Given the description of an element on the screen output the (x, y) to click on. 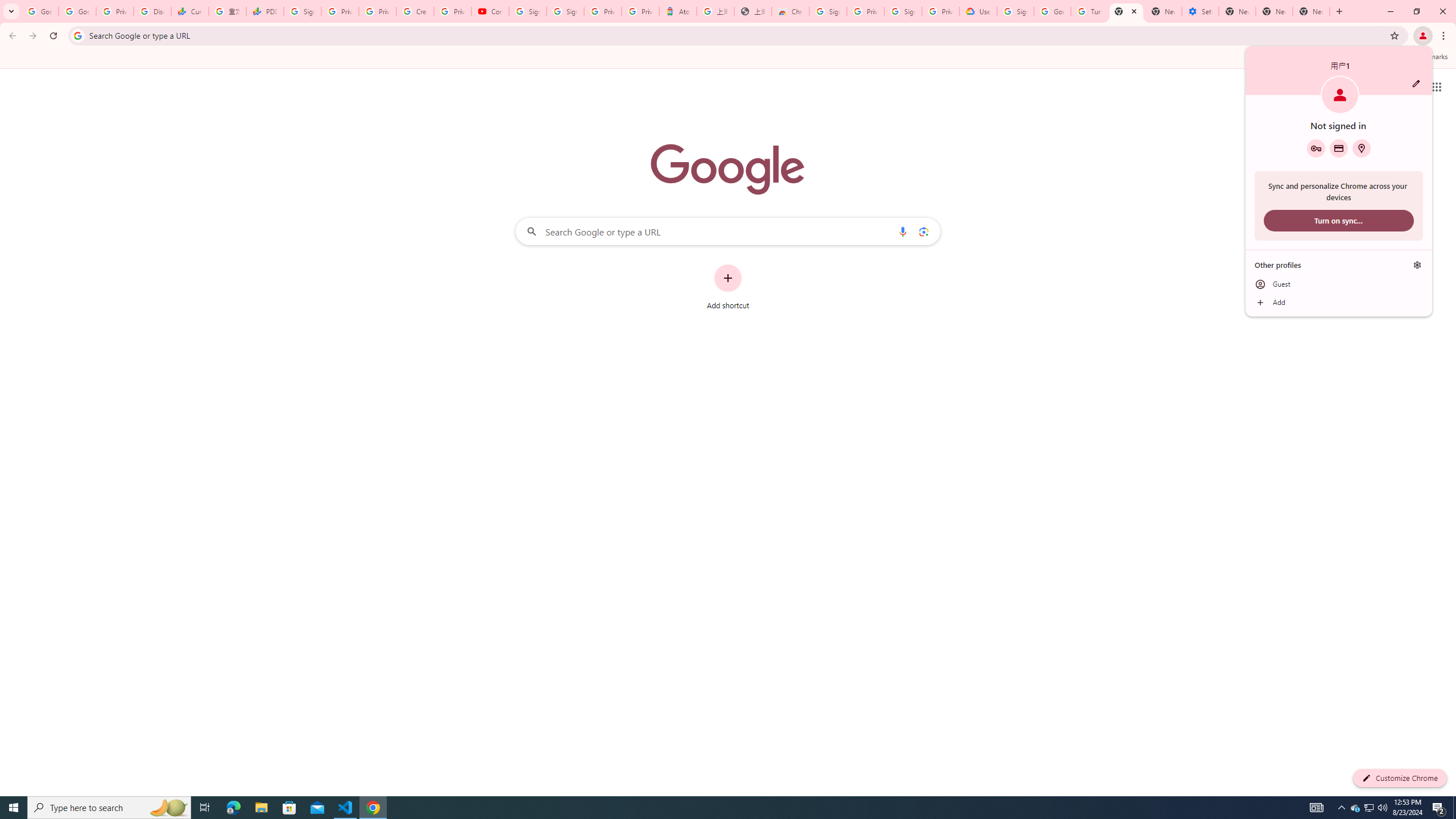
Google Password Manager (1315, 148)
Sign in - Google Accounts (827, 11)
Microsoft Store (289, 807)
Sign in - Google Accounts (565, 11)
Q2790: 100% (1382, 807)
Settings - System (1200, 11)
Google Account Help (1052, 11)
Privacy Checkup (377, 11)
Turn cookies on or off - Computer - Google Account Help (1088, 11)
